Given the description of an element on the screen output the (x, y) to click on. 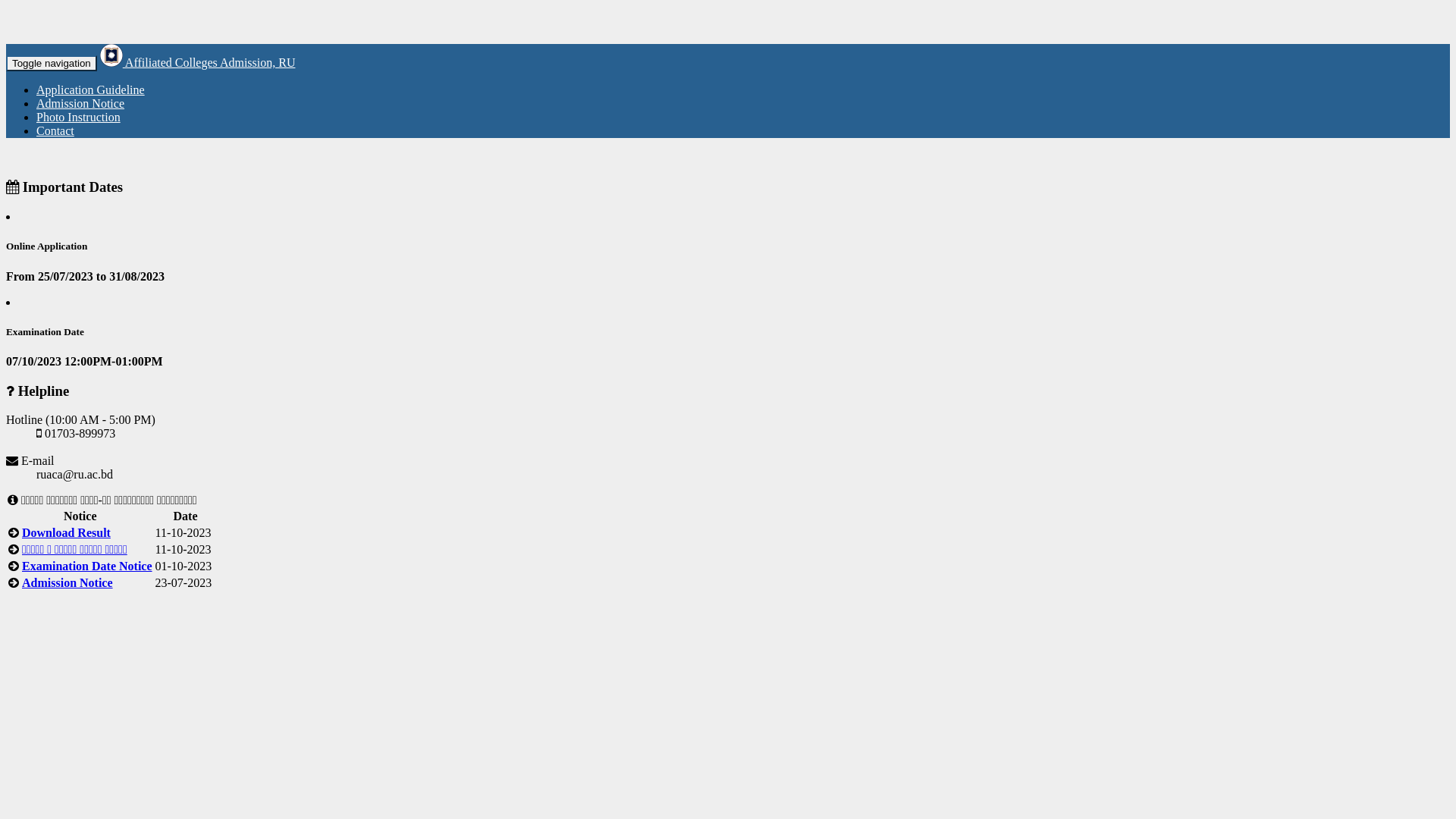
Admission Notice Element type: text (80, 103)
Download Result Element type: text (65, 532)
Contact Element type: text (55, 130)
Photo Instruction Element type: text (78, 116)
Application Guideline Element type: text (90, 89)
Examination Date Notice Element type: text (86, 565)
Toggle navigation Element type: text (51, 63)
Admission Notice Element type: text (66, 582)
Affiliated Colleges Admission, RU Element type: text (197, 62)
